Given the description of an element on the screen output the (x, y) to click on. 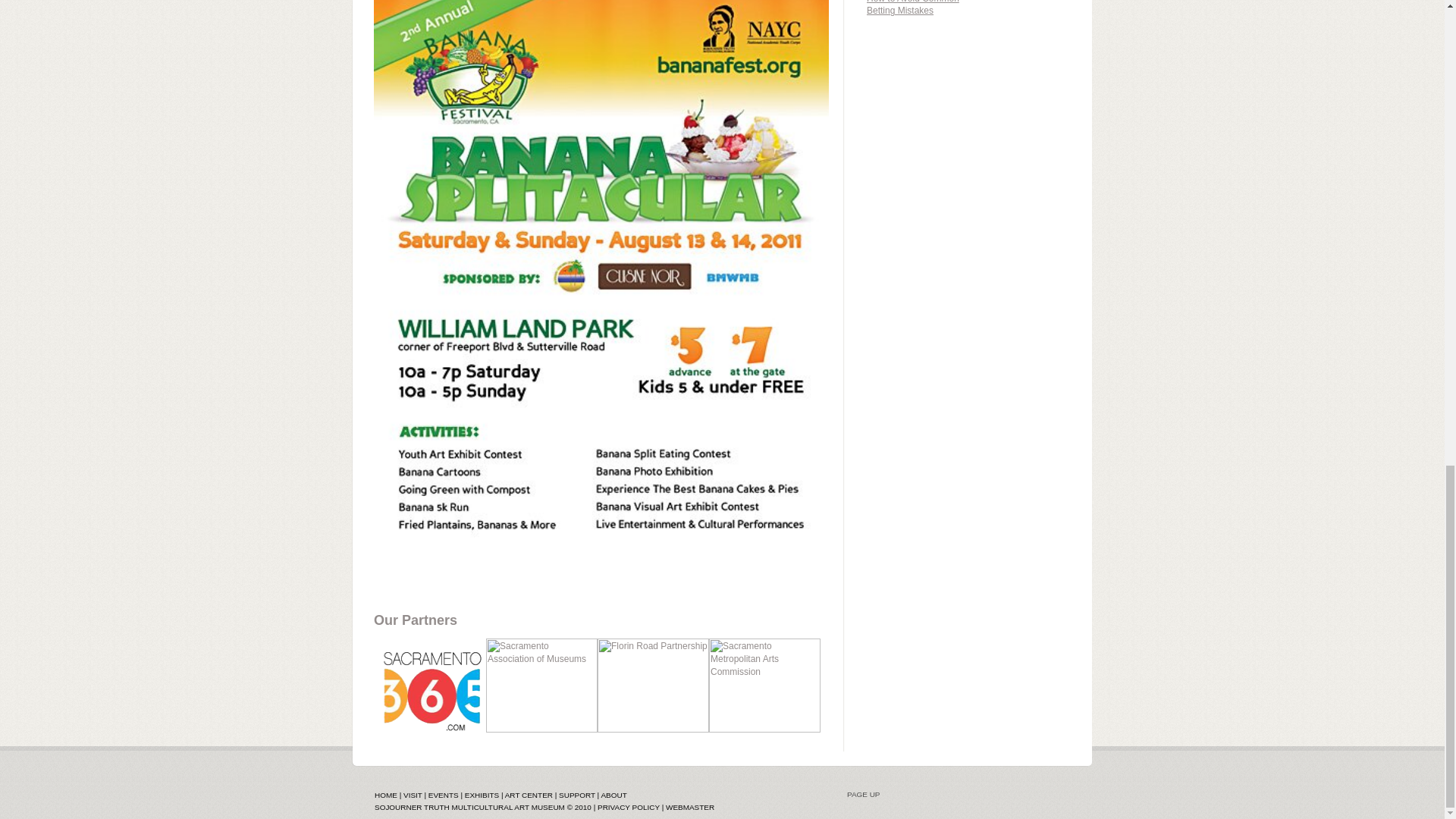
ART CENTER (529, 795)
HOME (385, 795)
EXHIBITS (481, 795)
PAGE UP (953, 794)
How to Avoid Common Betting Mistakes (912, 13)
EVENTS (443, 795)
VISIT (412, 795)
PRIVACY POLICY (627, 807)
SUPPORT (577, 795)
ABOUT (612, 795)
WEBMASTER (689, 807)
